Given the description of an element on the screen output the (x, y) to click on. 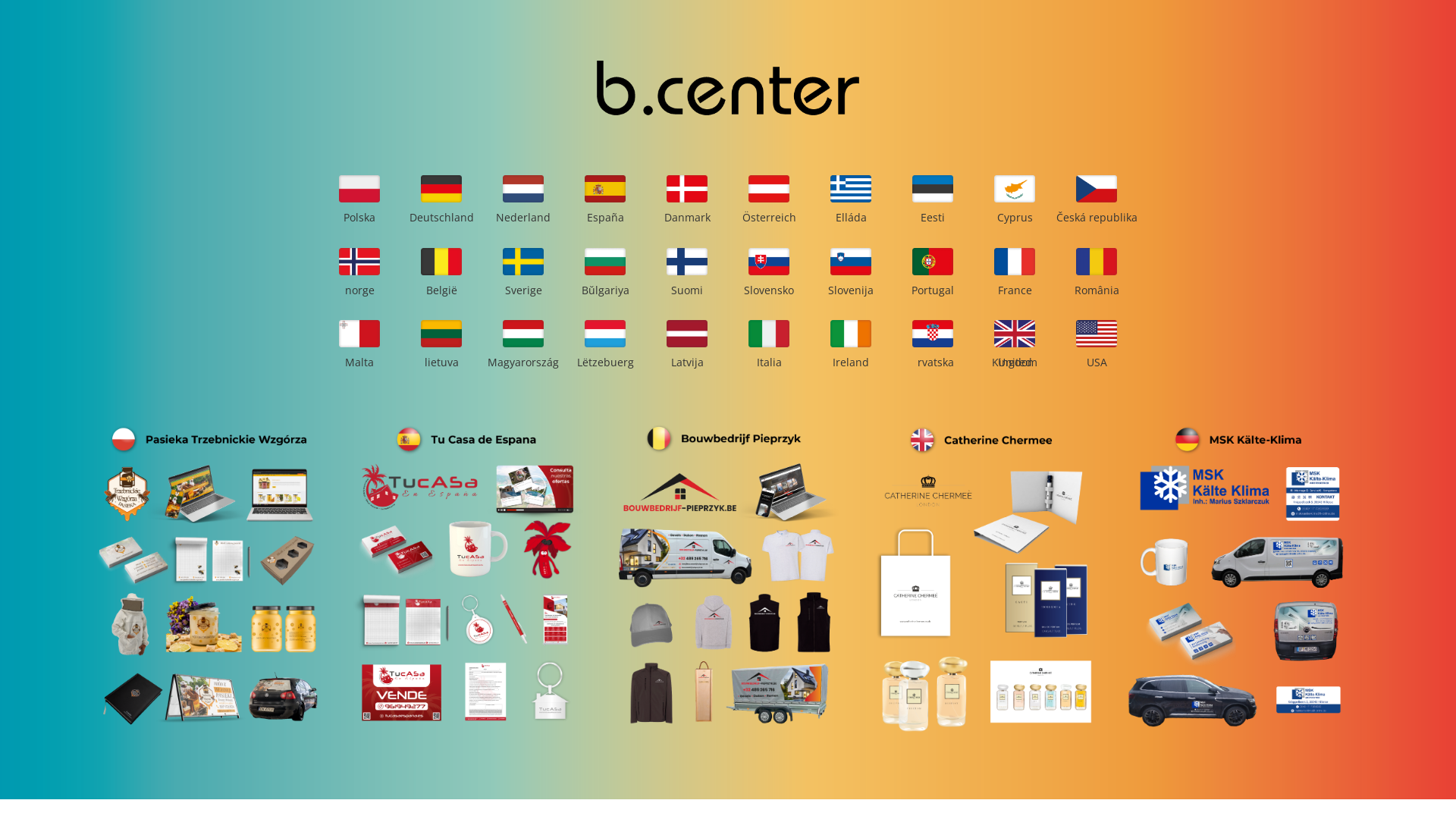
Sverige Element type: text (523, 289)
Polska Element type: text (359, 217)
norge Element type: text (358, 289)
Malta Element type: text (359, 361)
Portugal Element type: text (932, 289)
Slovensko Element type: text (768, 289)
Cyprus Element type: text (1014, 217)
Italia Element type: text (768, 361)
Latvija Element type: text (686, 361)
Deutschland Element type: text (441, 217)
catherine_chermee_4 Element type: hover (981, 577)
bouwbedrijf_pieprzyk_3 Element type: hover (723, 577)
tucasa_2 Element type: hover (466, 577)
Danmark Element type: text (687, 217)
USA Element type: text (1095, 361)
France Element type: text (1014, 289)
msk_kalte_klima_5 Element type: hover (1238, 577)
lietuva Element type: text (441, 361)
United Kingdom Element type: text (1014, 361)
Nederland Element type: text (522, 217)
Eesti Element type: text (932, 217)
Ireland Element type: text (850, 361)
Slovenija Element type: text (850, 289)
trzebnickie_wzgorza_pasieka_1 Element type: hover (209, 577)
Suomi Element type: text (686, 289)
